Given the description of an element on the screen output the (x, y) to click on. 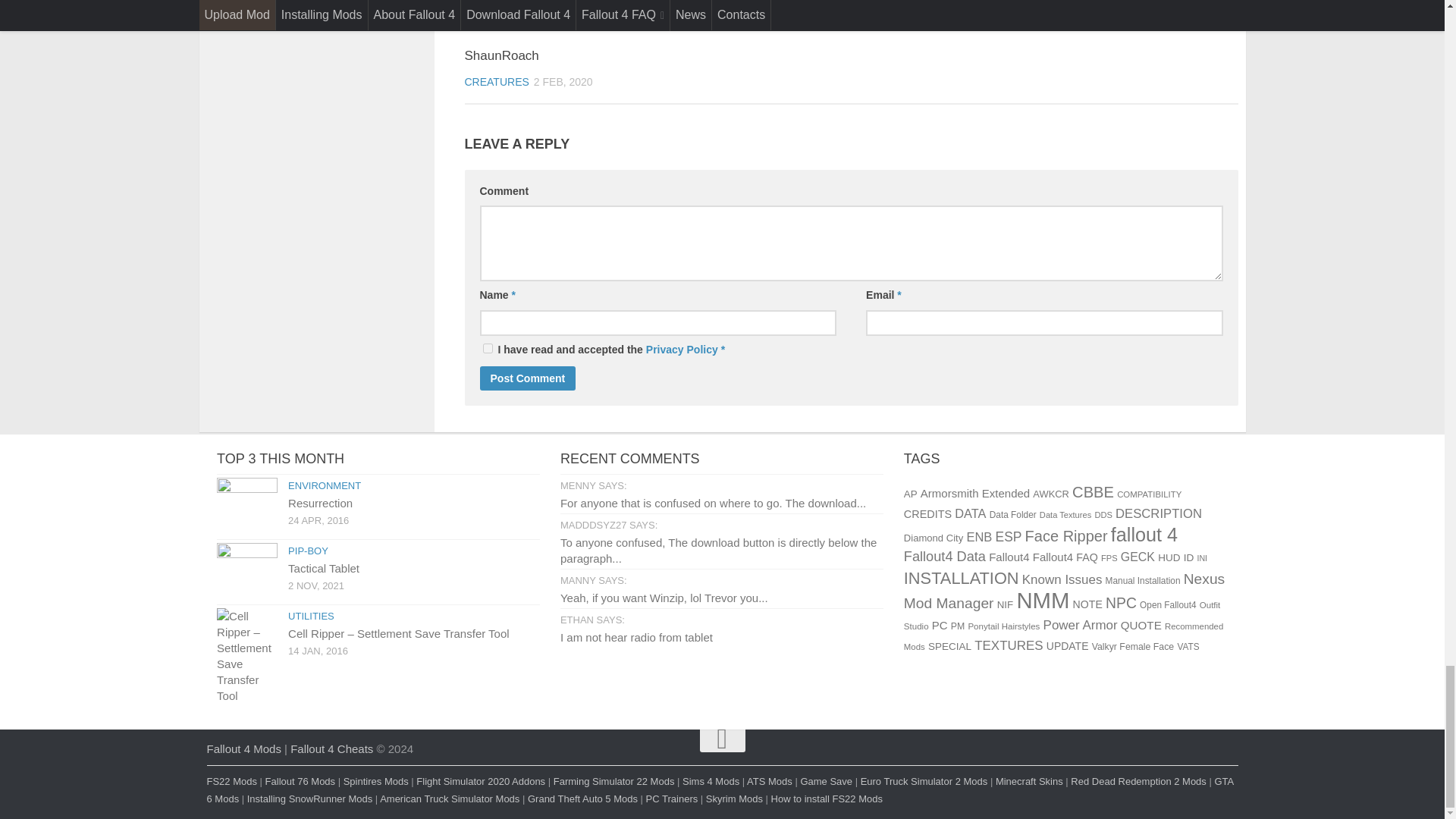
Post Comment (527, 378)
ShaunRoach (501, 55)
ShaunRoach (592, 16)
Resurrection (247, 507)
Post Comment (527, 378)
policy-key (486, 347)
Resurrection (320, 502)
Privacy Policy (681, 349)
ShaunRoach (501, 55)
Tactical Tablet (247, 572)
